Given the description of an element on the screen output the (x, y) to click on. 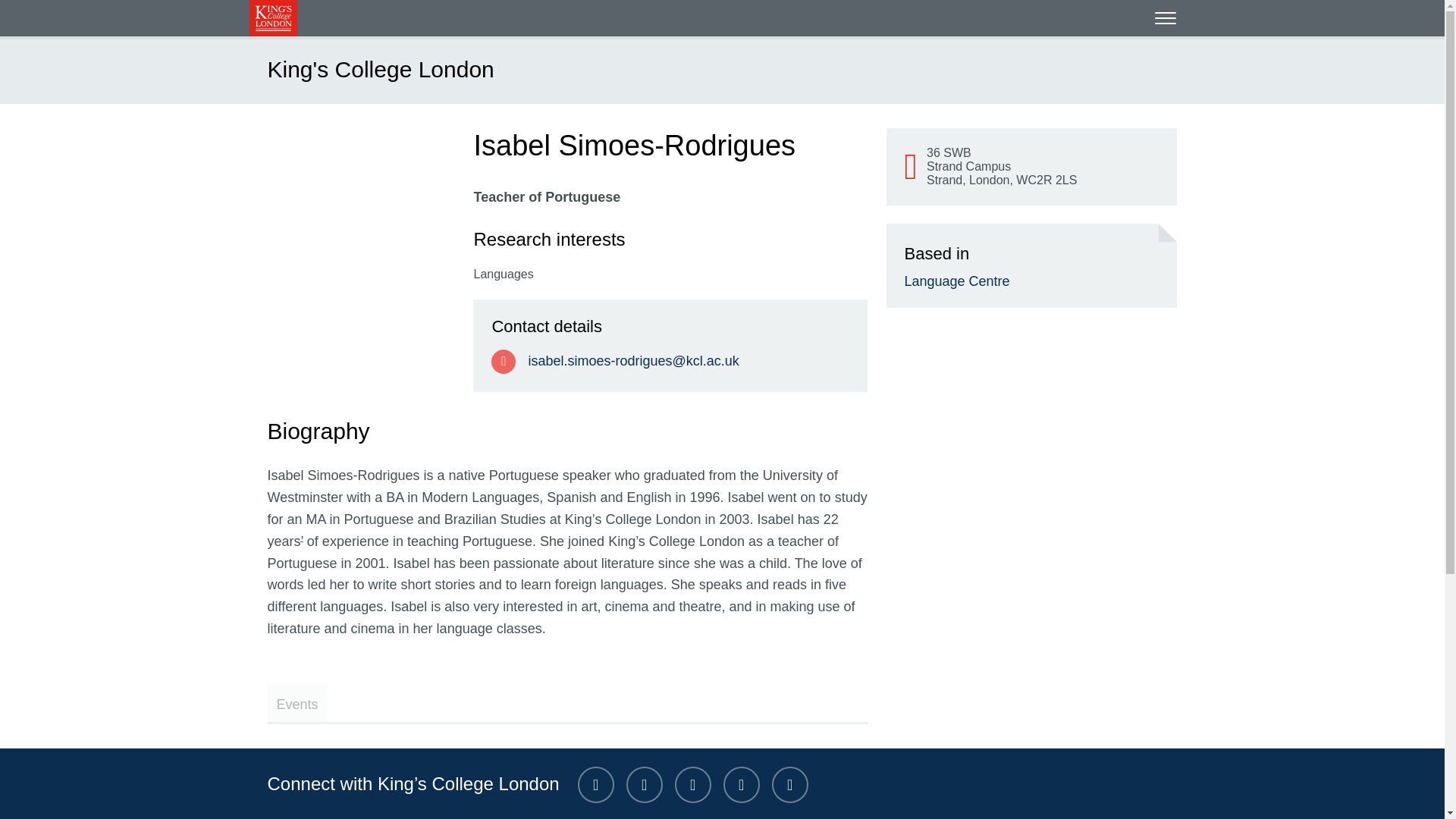
Opens navigation menu (1164, 17)
